Given the description of an element on the screen output the (x, y) to click on. 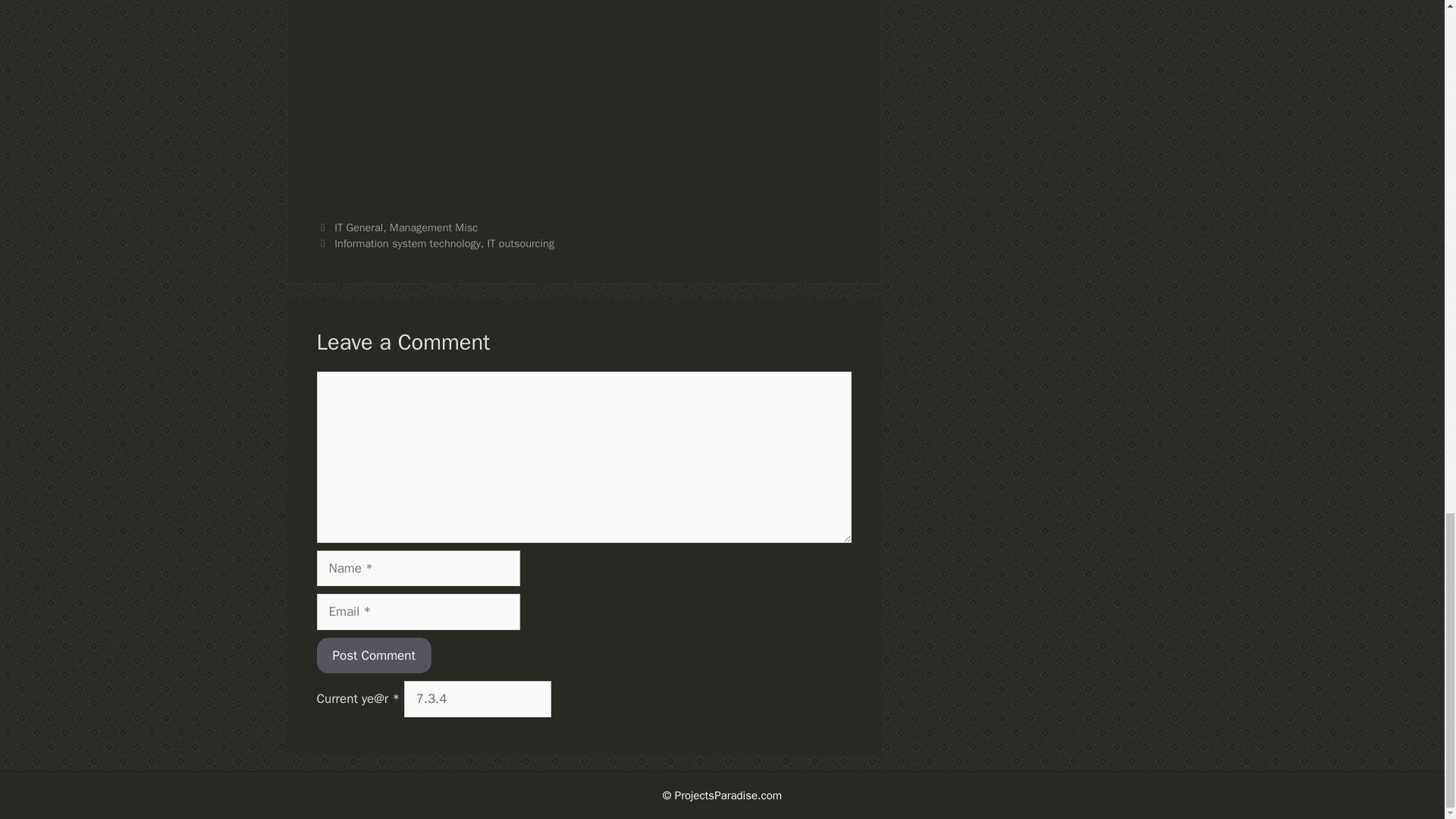
7.3.4 (477, 698)
Management Misc (433, 227)
Post Comment (373, 656)
IT General (358, 227)
Post Comment (373, 656)
Information system technology (407, 243)
IT outsourcing (520, 243)
